Given the description of an element on the screen output the (x, y) to click on. 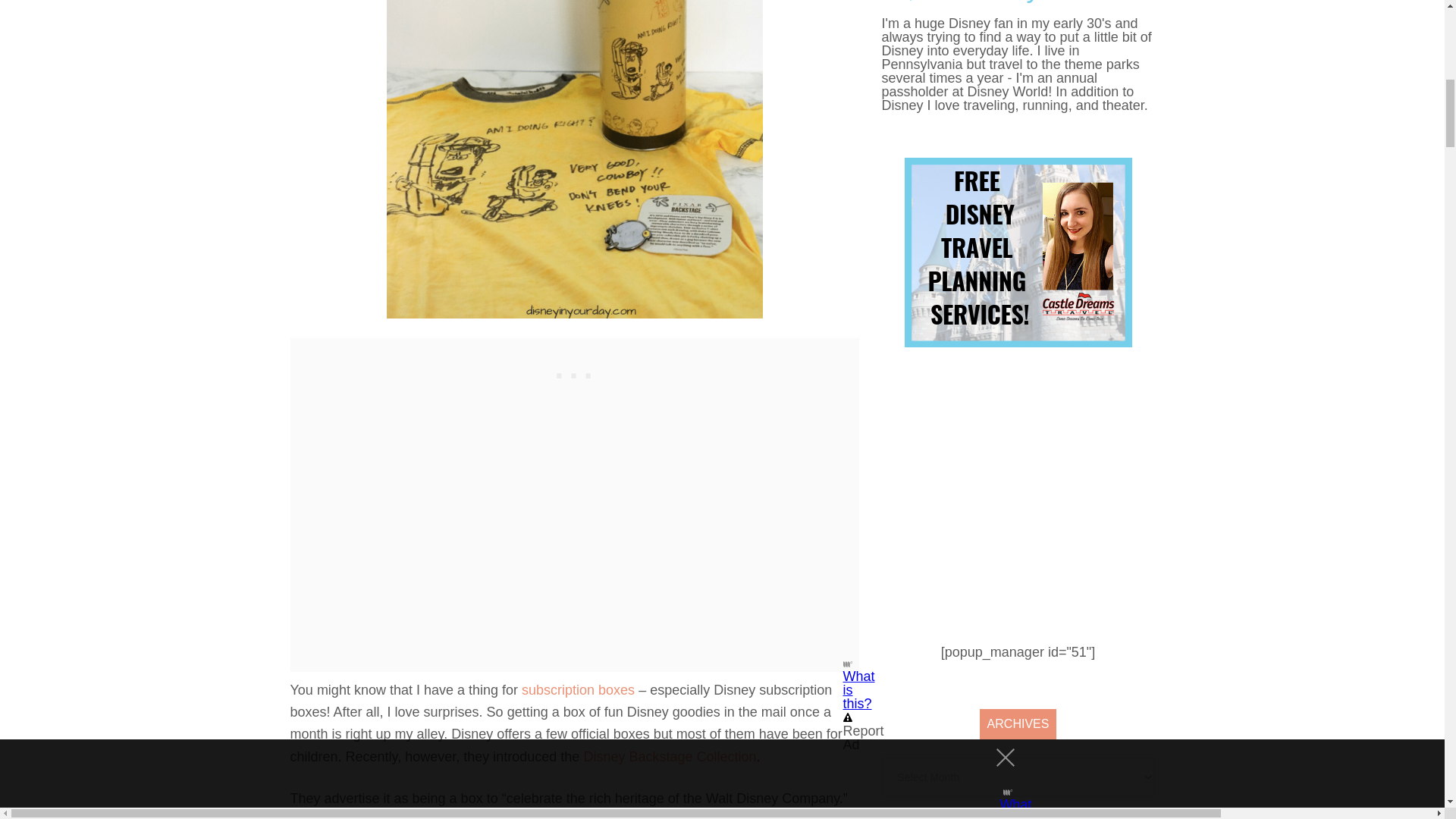
3rd party ad content (574, 372)
Disney Backstage Collection (669, 756)
 subscription boxes (576, 689)
